Given the description of an element on the screen output the (x, y) to click on. 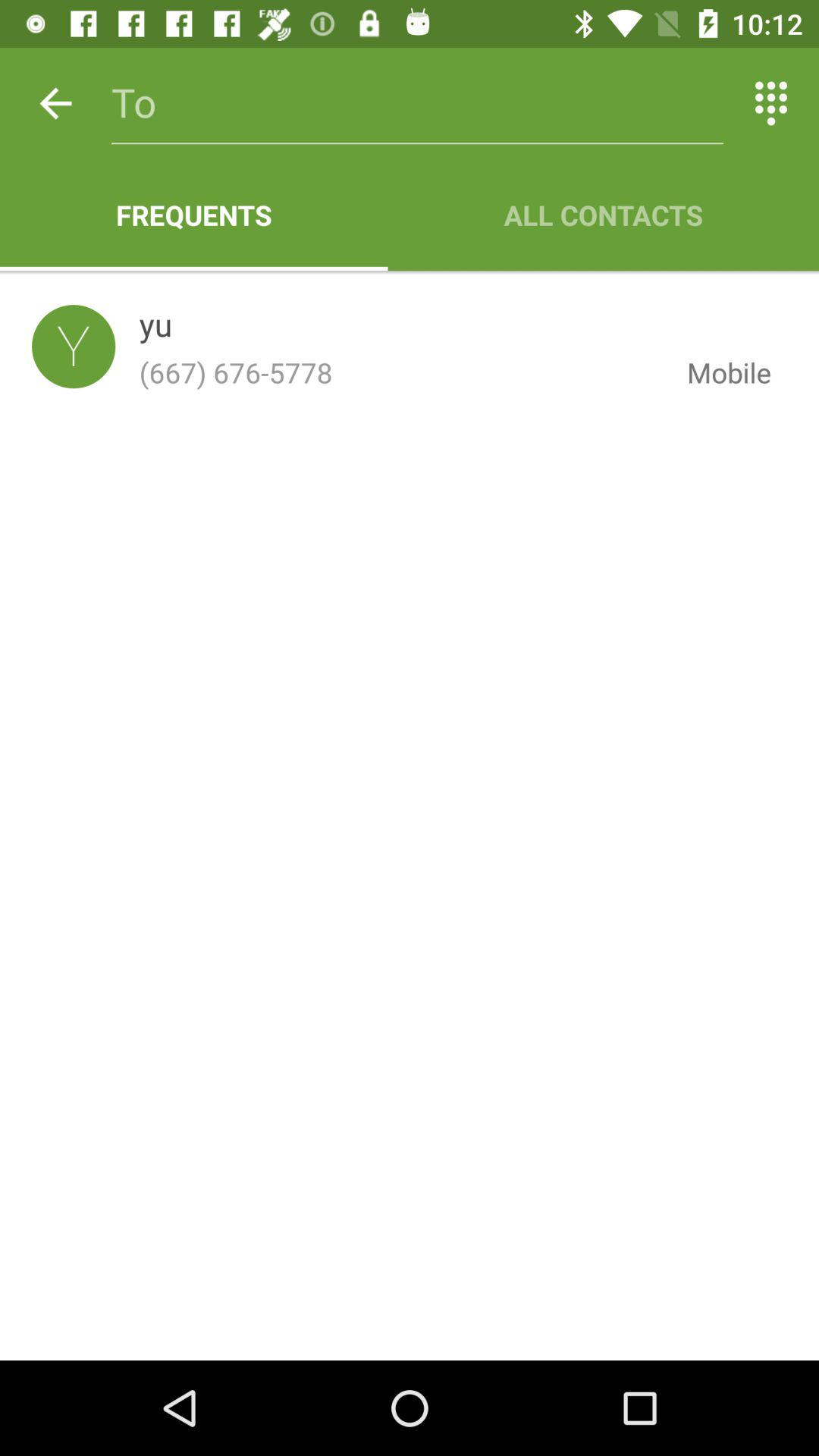
tap icon to the left of the yu icon (73, 346)
